Given the description of an element on the screen output the (x, y) to click on. 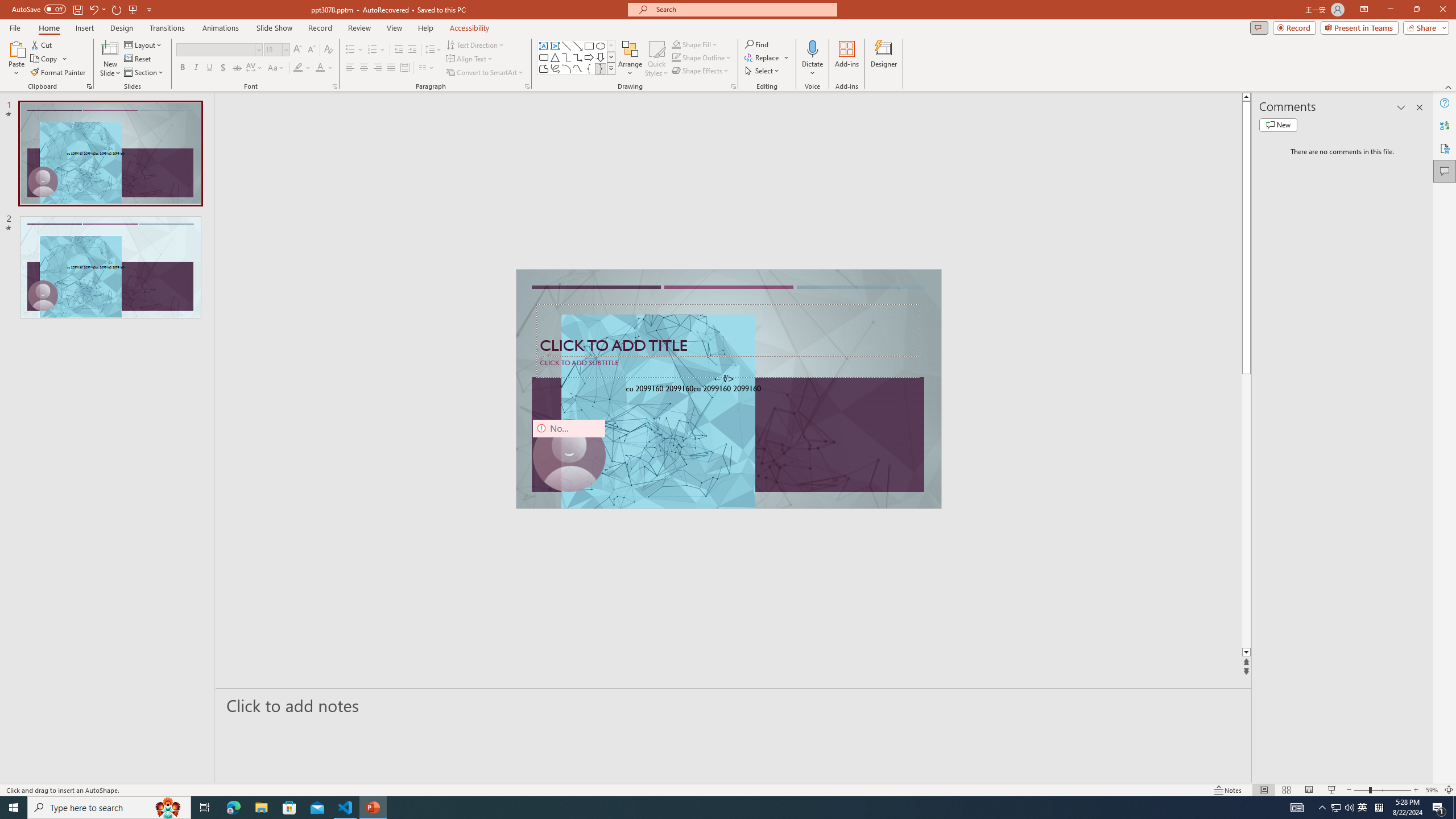
Font (219, 49)
Connector: Elbow Arrow (577, 57)
Class: MsoCommandBar (728, 789)
Line (566, 45)
Paste (16, 48)
Justify (390, 67)
Class: NetUIImage (610, 68)
Task Pane Options (1400, 107)
